Given the description of an element on the screen output the (x, y) to click on. 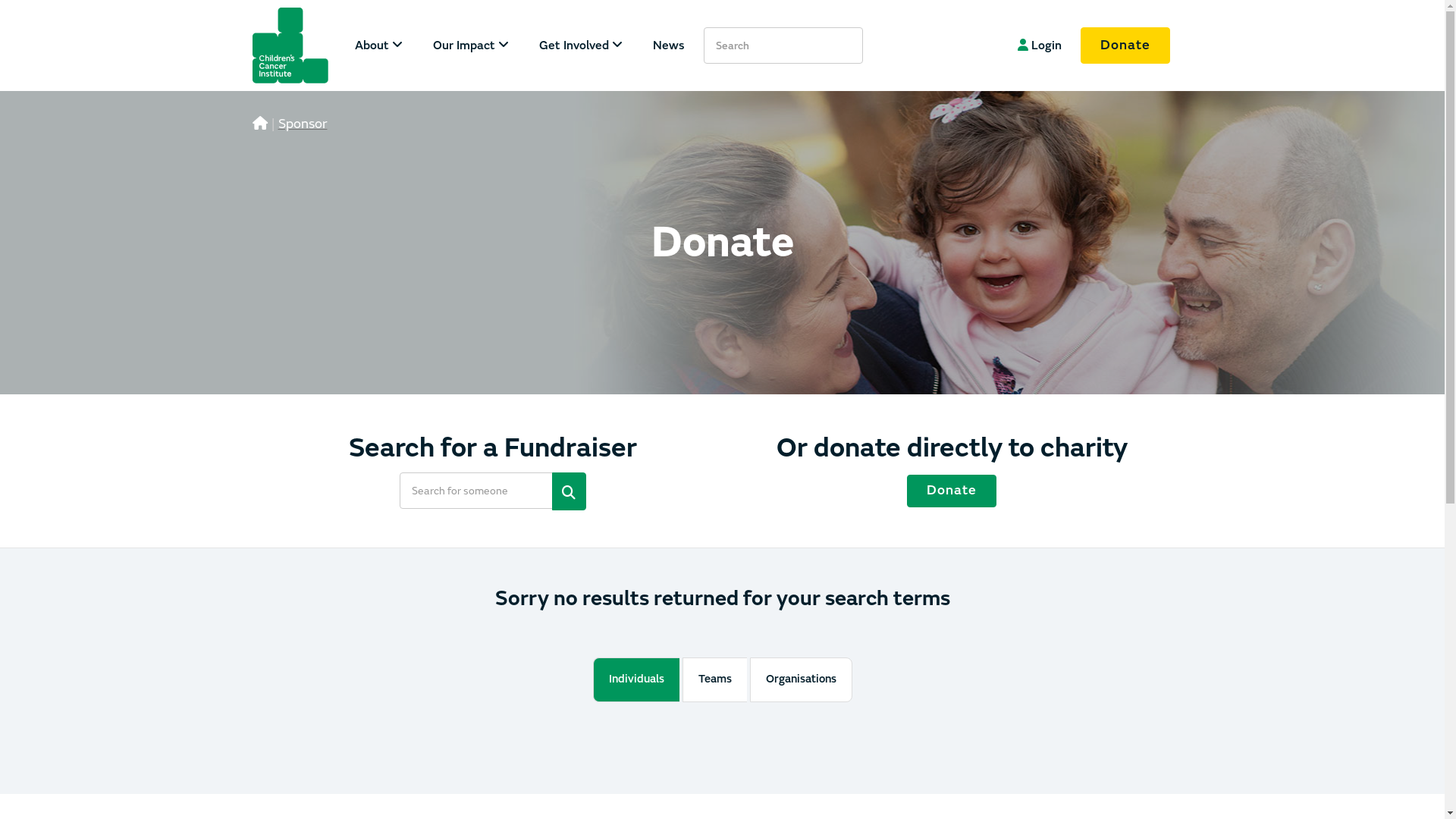
Donate Element type: text (1124, 45)
About Element type: text (385, 45)
Sponsor Element type: text (301, 123)
Our Impact Element type: text (470, 45)
Login Element type: text (1039, 45)
Donate Element type: text (951, 490)
News Element type: text (668, 45)
Individuals Element type: text (636, 679)
Organisations Element type: text (800, 679)
Teams Element type: text (714, 679)
Get Involved Element type: text (580, 45)
